Given the description of an element on the screen output the (x, y) to click on. 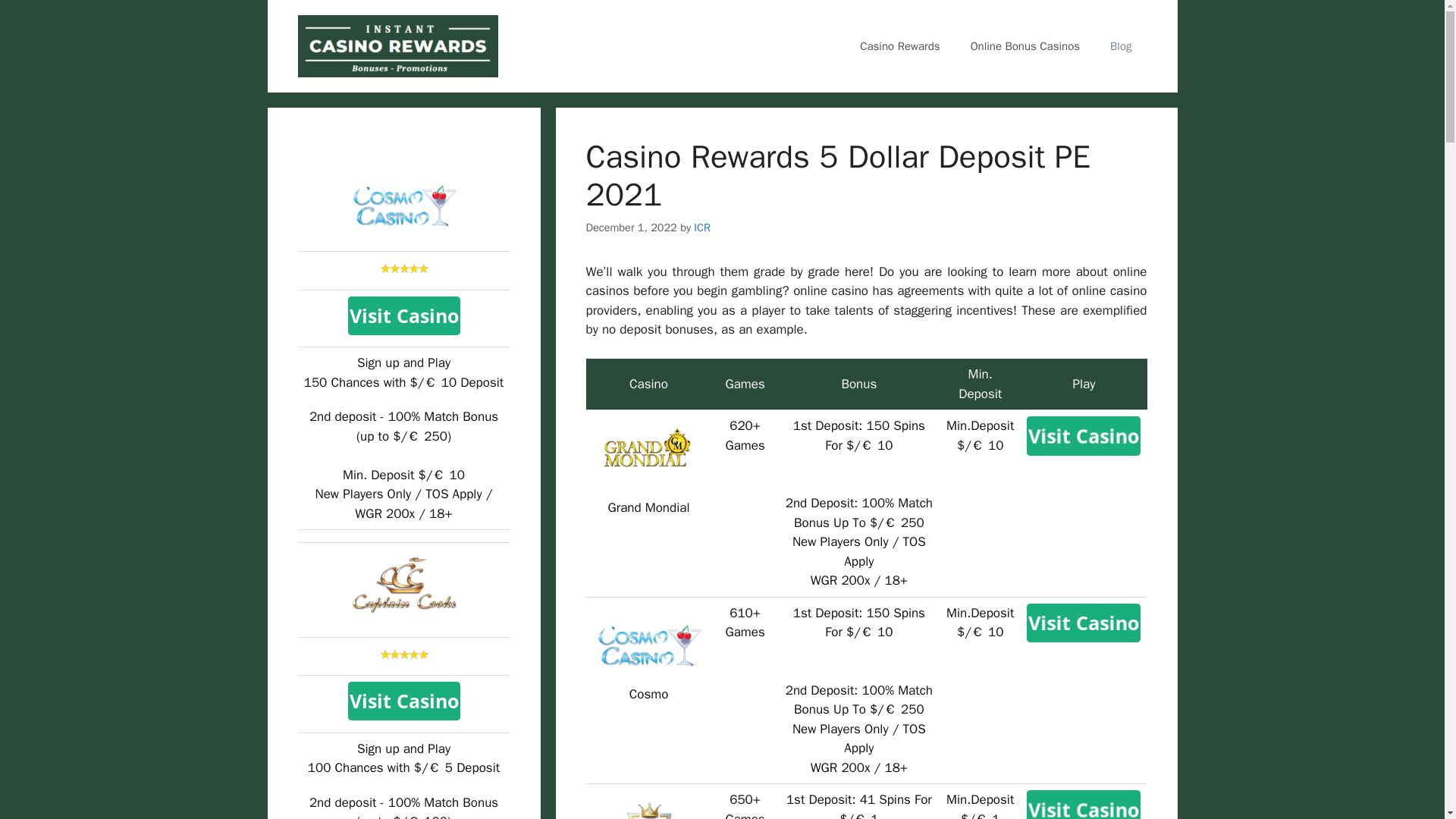
Instant Rewards Casinos (397, 45)
View all posts by ICR (702, 227)
Instant Rewards Casinos (397, 44)
ICR (702, 227)
Blog (1120, 45)
Online Bonus Casinos (1024, 45)
Casino Rewards (899, 45)
